Given the description of an element on the screen output the (x, y) to click on. 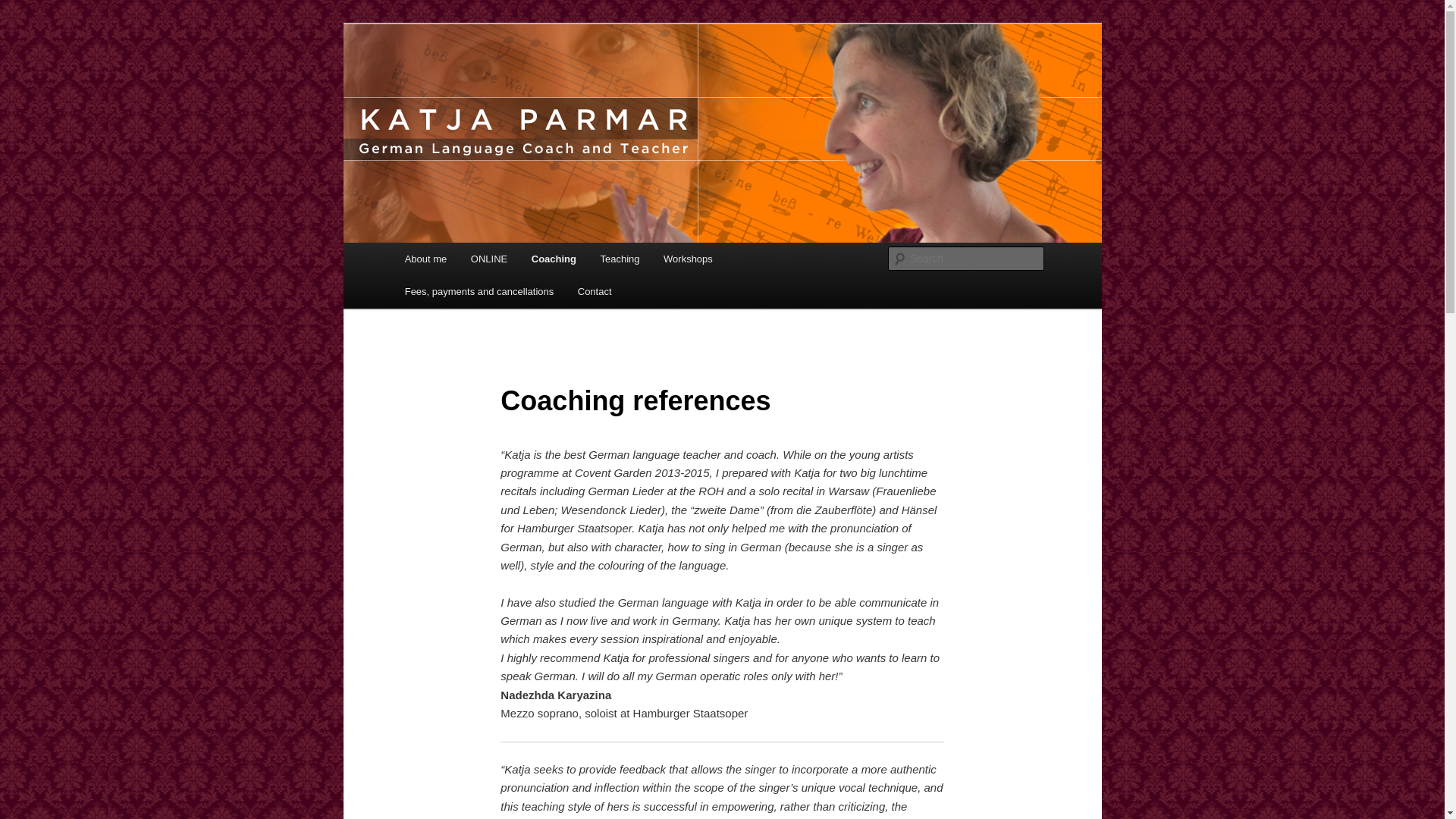
Teaching (620, 258)
Read in full (571, 818)
About me (425, 258)
Contact (594, 291)
Workshops (686, 258)
Coaching (553, 258)
ONLINE (488, 258)
Fees, payments and cancellations (479, 291)
Germancoach (475, 78)
Search (24, 8)
